Given the description of an element on the screen output the (x, y) to click on. 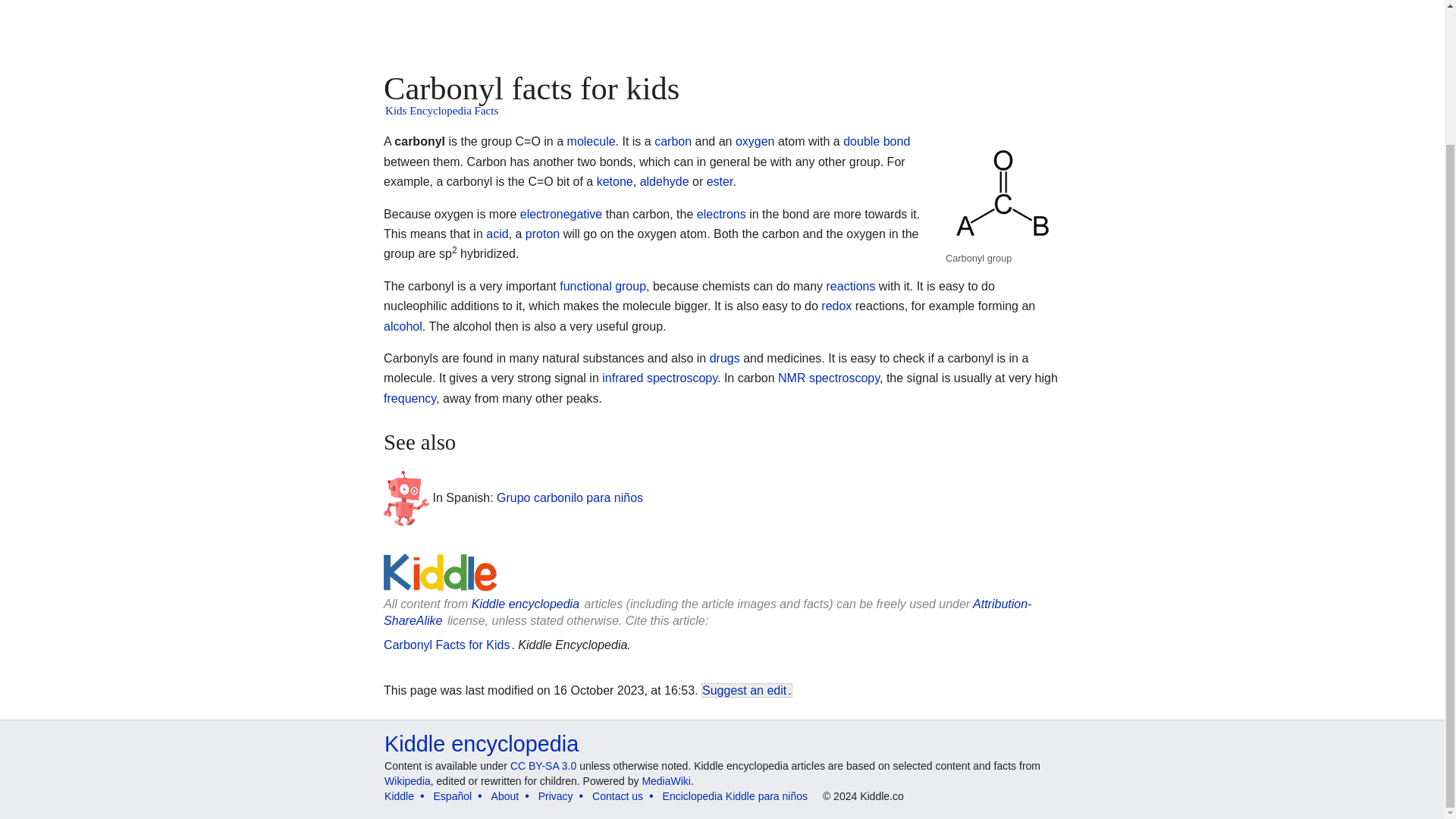
Proton (542, 233)
Infrared spectroscopy (659, 377)
infrared spectroscopy (659, 377)
Drug (724, 358)
oxygen (754, 141)
NMR spectroscopy (828, 377)
Kiddle encyclopedia (481, 743)
Electronegativity (560, 214)
Redox (836, 305)
Electron (721, 214)
